Given the description of an element on the screen output the (x, y) to click on. 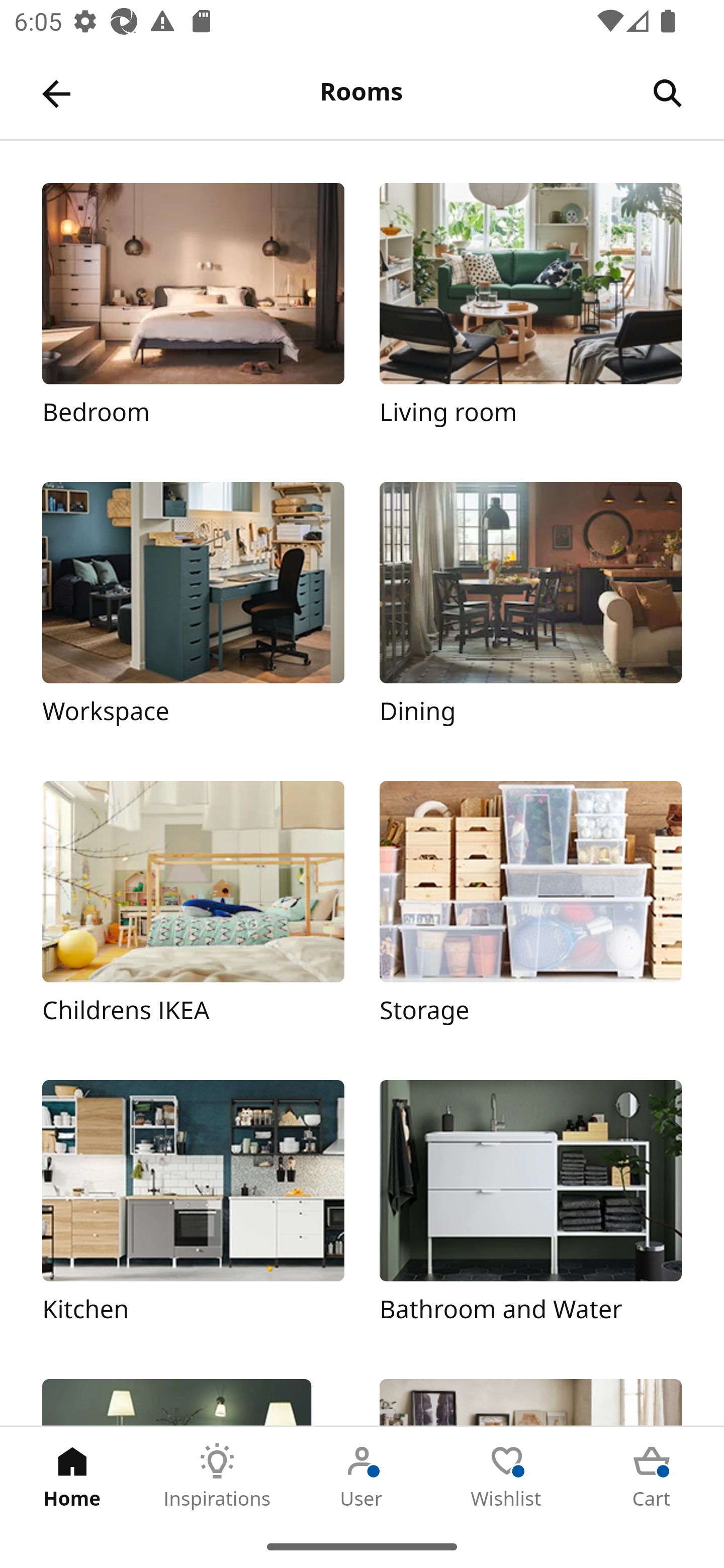
Bedroom (192, 314)
Living room (530, 314)
Workspace (192, 613)
Dining (530, 613)
Childrens IKEA (192, 912)
Storage (530, 912)
Kitchen (192, 1211)
Bathroom and Water (530, 1211)
Home
Tab 1 of 5 (72, 1476)
Inspirations
Tab 2 of 5 (216, 1476)
User
Tab 3 of 5 (361, 1476)
Wishlist
Tab 4 of 5 (506, 1476)
Cart
Tab 5 of 5 (651, 1476)
